Given the description of an element on the screen output the (x, y) to click on. 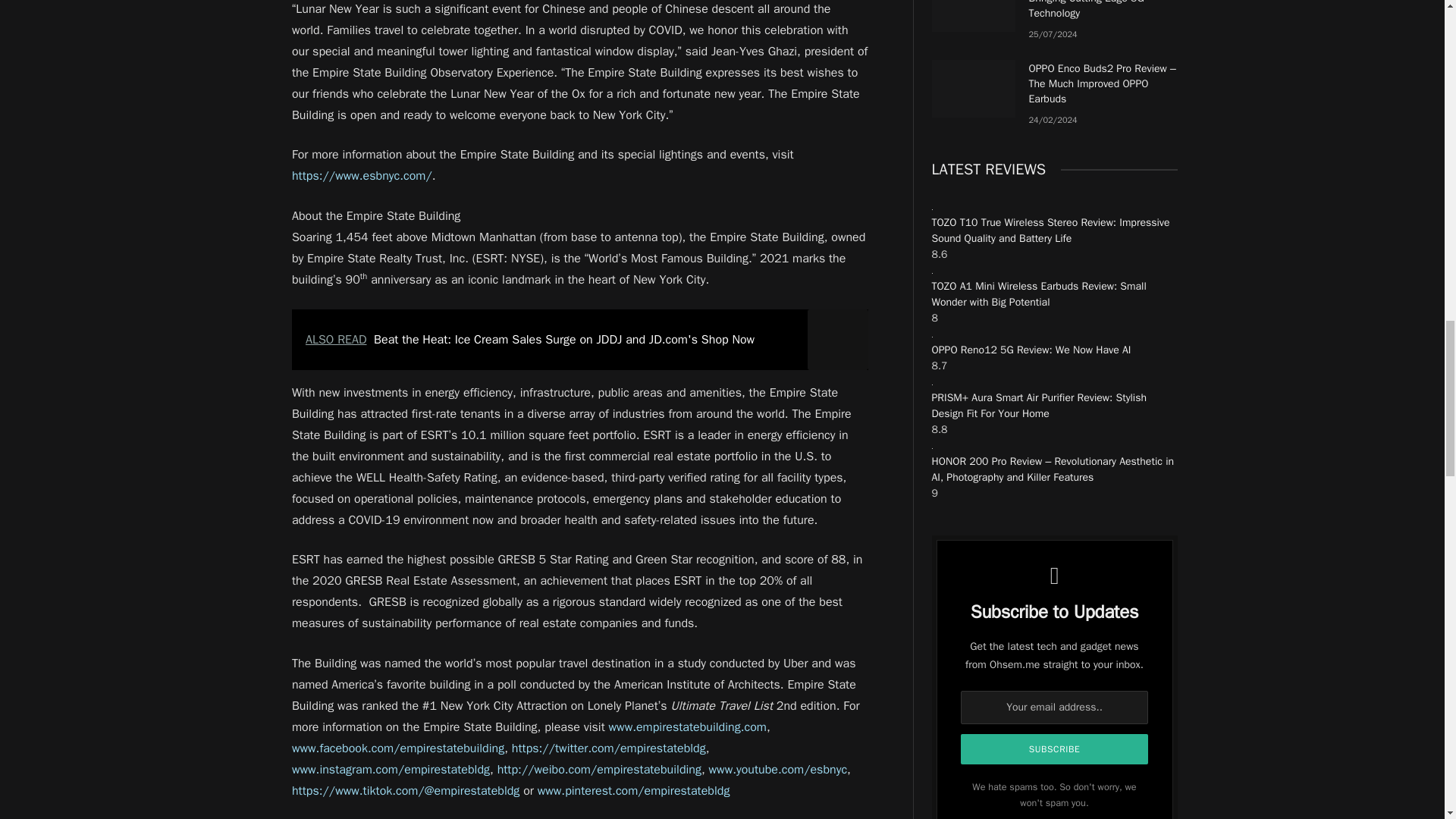
Subscribe (1053, 748)
